Given the description of an element on the screen output the (x, y) to click on. 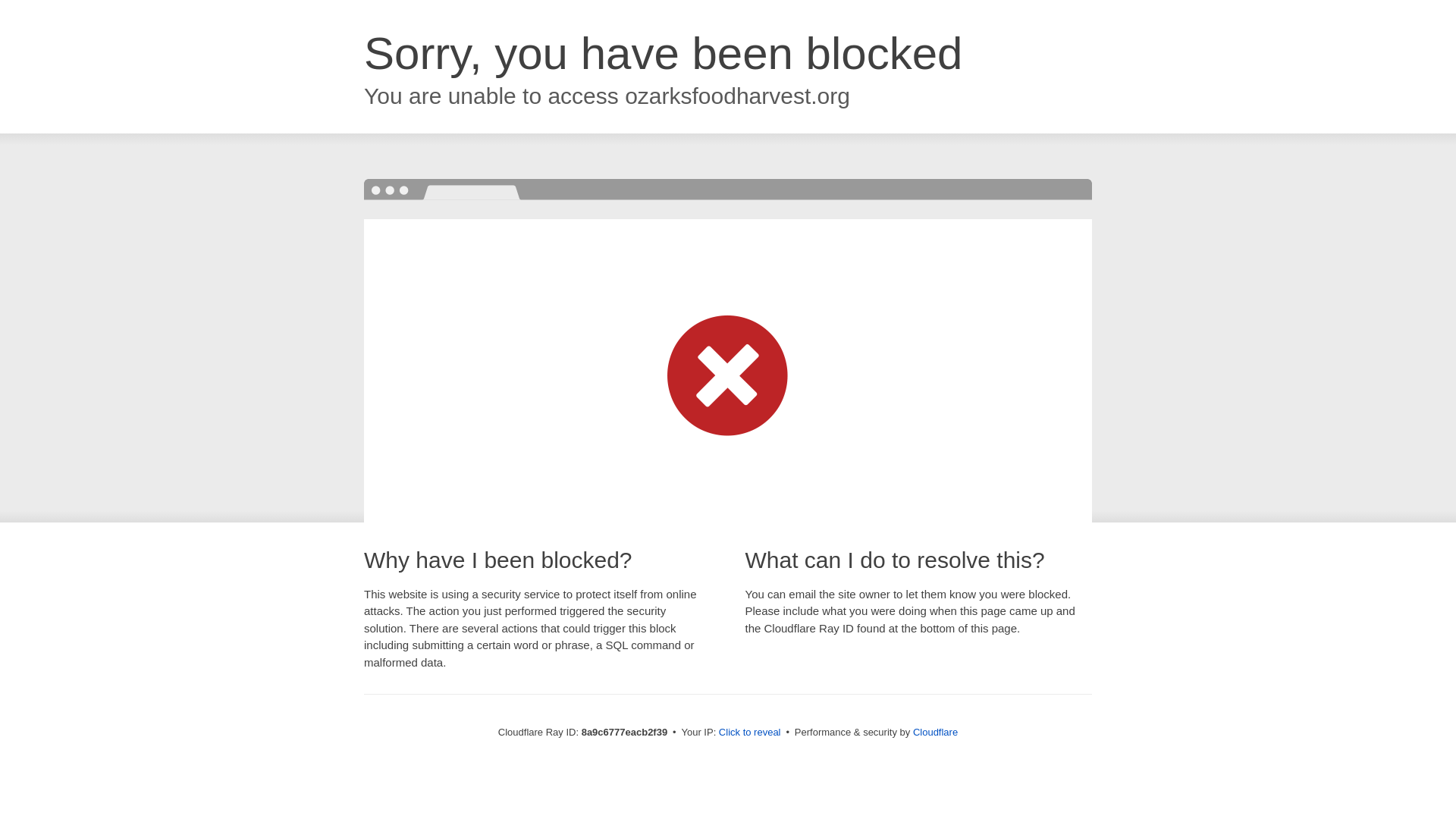
Cloudflare (935, 731)
Click to reveal (749, 732)
